Given the description of an element on the screen output the (x, y) to click on. 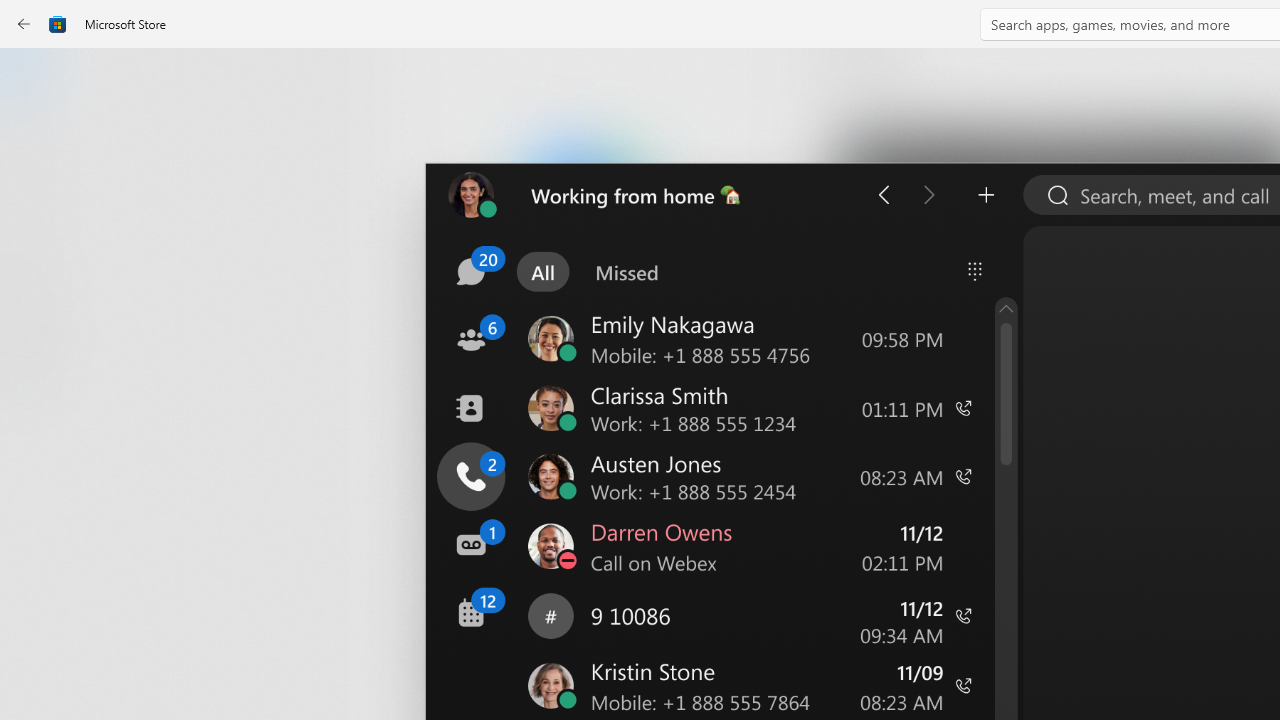
Arcade (35, 265)
3.4 stars. Click to skip to ratings and reviews (542, 543)
Entertainment (35, 327)
Install (586, 428)
Class: Image (58, 24)
Cisco Systems. (674, 333)
Back (24, 24)
Home (35, 79)
AI Hub (35, 390)
Gaming (35, 203)
Apps (35, 141)
